Given the description of an element on the screen output the (x, y) to click on. 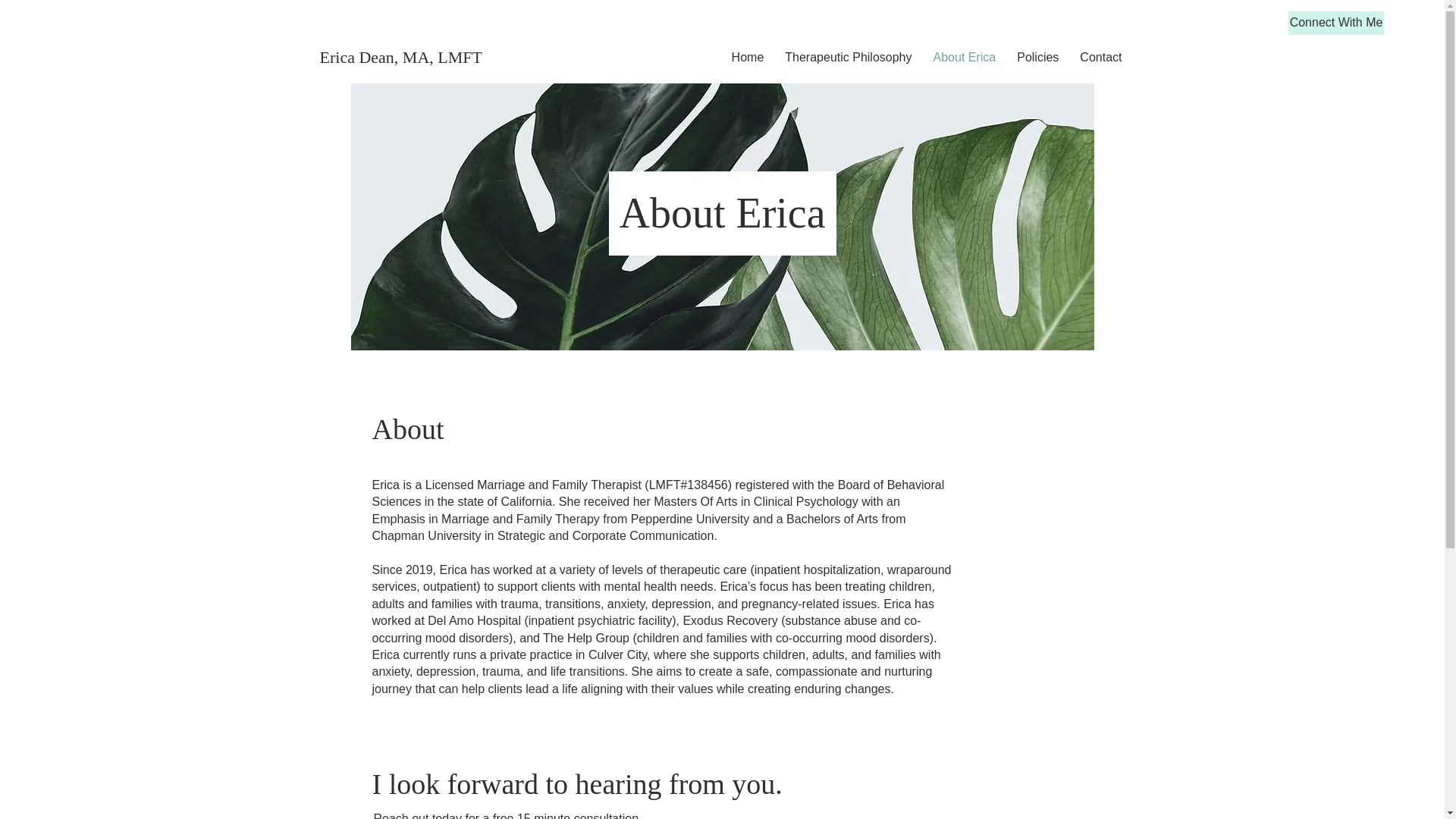
Contact (1100, 57)
Therapeutic Philosophy (847, 57)
Policies (1037, 57)
About Erica (963, 57)
Home (747, 57)
Erica Dean, MA, LMFT (407, 57)
Connect With Me (1336, 23)
